Given the description of an element on the screen output the (x, y) to click on. 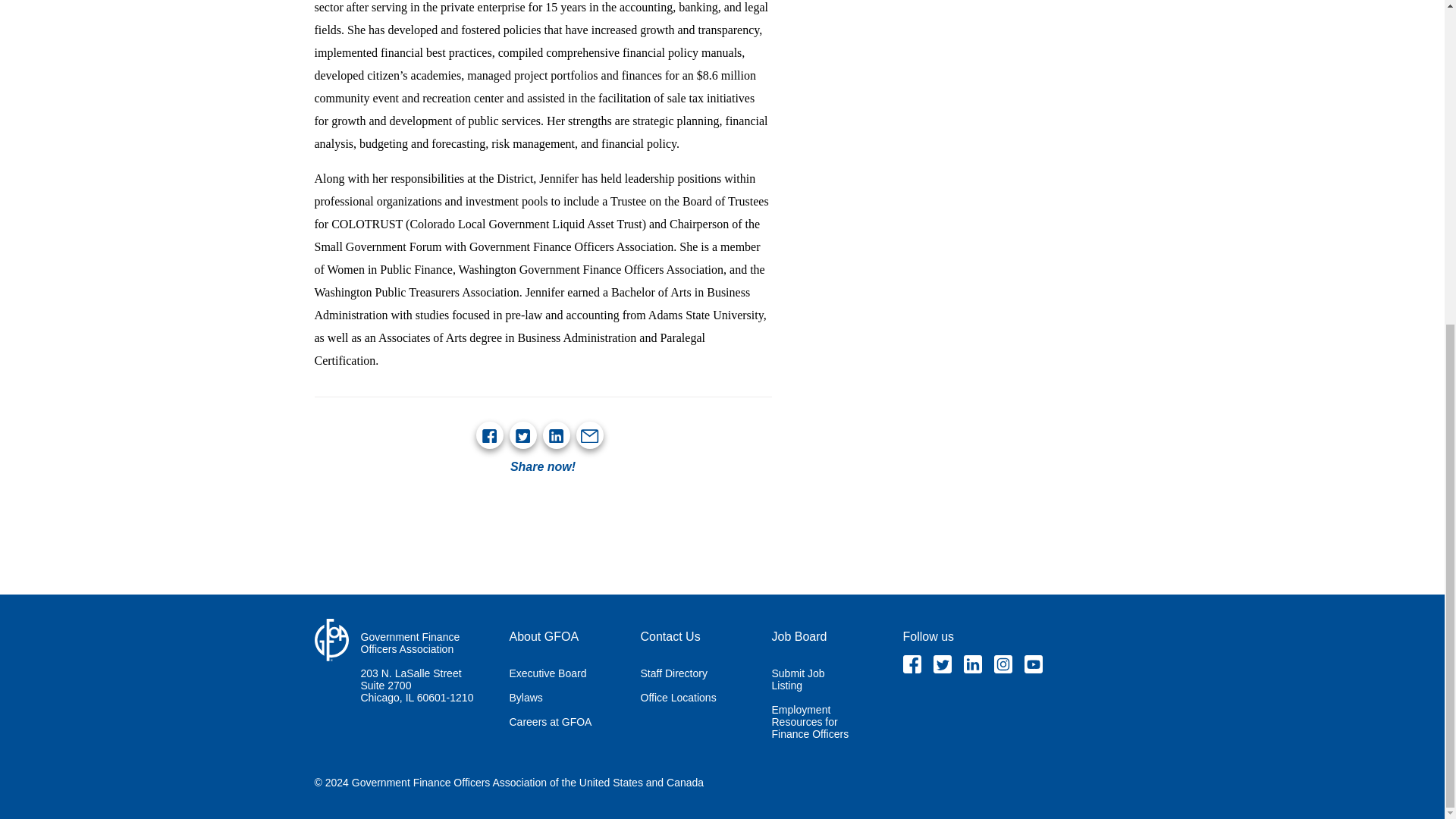
Instagram (1001, 664)
LinkedIn (971, 664)
Twitter (941, 664)
Facebook (488, 436)
LinkedIn (555, 436)
Facebook (911, 664)
YouTube (1032, 664)
Twitter (522, 436)
